Given the description of an element on the screen output the (x, y) to click on. 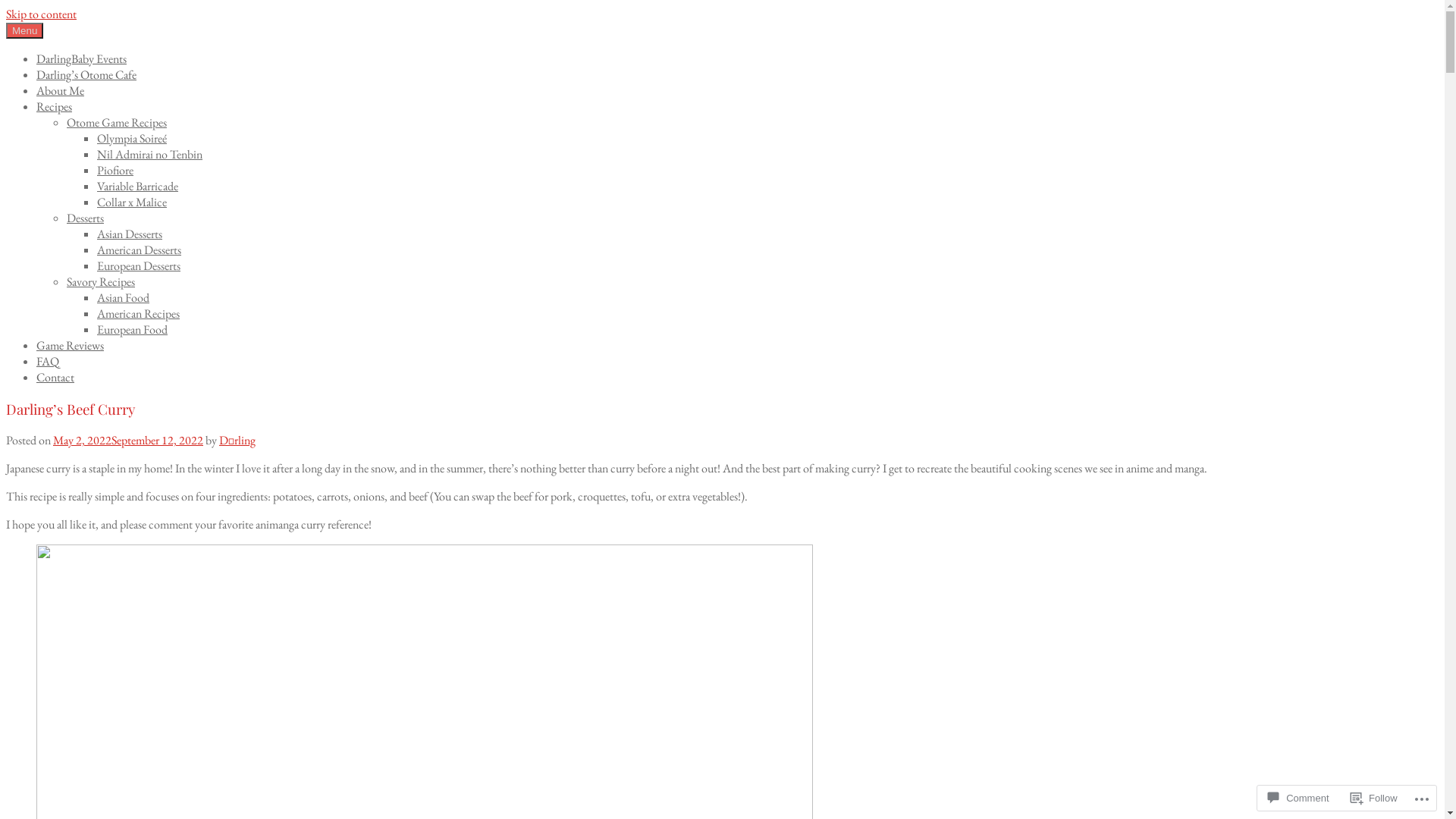
FAQ Element type: text (47, 361)
Desserts Element type: text (84, 217)
DarlingBaby Events Element type: text (81, 58)
Asian Food Element type: text (123, 297)
Comment Element type: text (1297, 797)
About Me Element type: text (60, 90)
Savory Recipes Element type: text (100, 281)
Collar x Malice Element type: text (131, 202)
Otome Game Recipes Element type: text (116, 122)
Contact Element type: text (55, 377)
Piofiore Element type: text (115, 170)
American Desserts Element type: text (139, 249)
May 2, 2022September 12, 2022 Element type: text (128, 440)
Recipes Element type: text (54, 106)
Variable Barricade Element type: text (137, 186)
Nil Admirai no Tenbin Element type: text (149, 154)
Follow Element type: text (1373, 797)
European Desserts Element type: text (138, 265)
Menu Element type: text (24, 30)
American Recipes Element type: text (138, 313)
European Food Element type: text (132, 329)
Asian Desserts Element type: text (129, 233)
Skip to content Element type: text (41, 13)
Game Reviews Element type: text (69, 345)
